Given the description of an element on the screen output the (x, y) to click on. 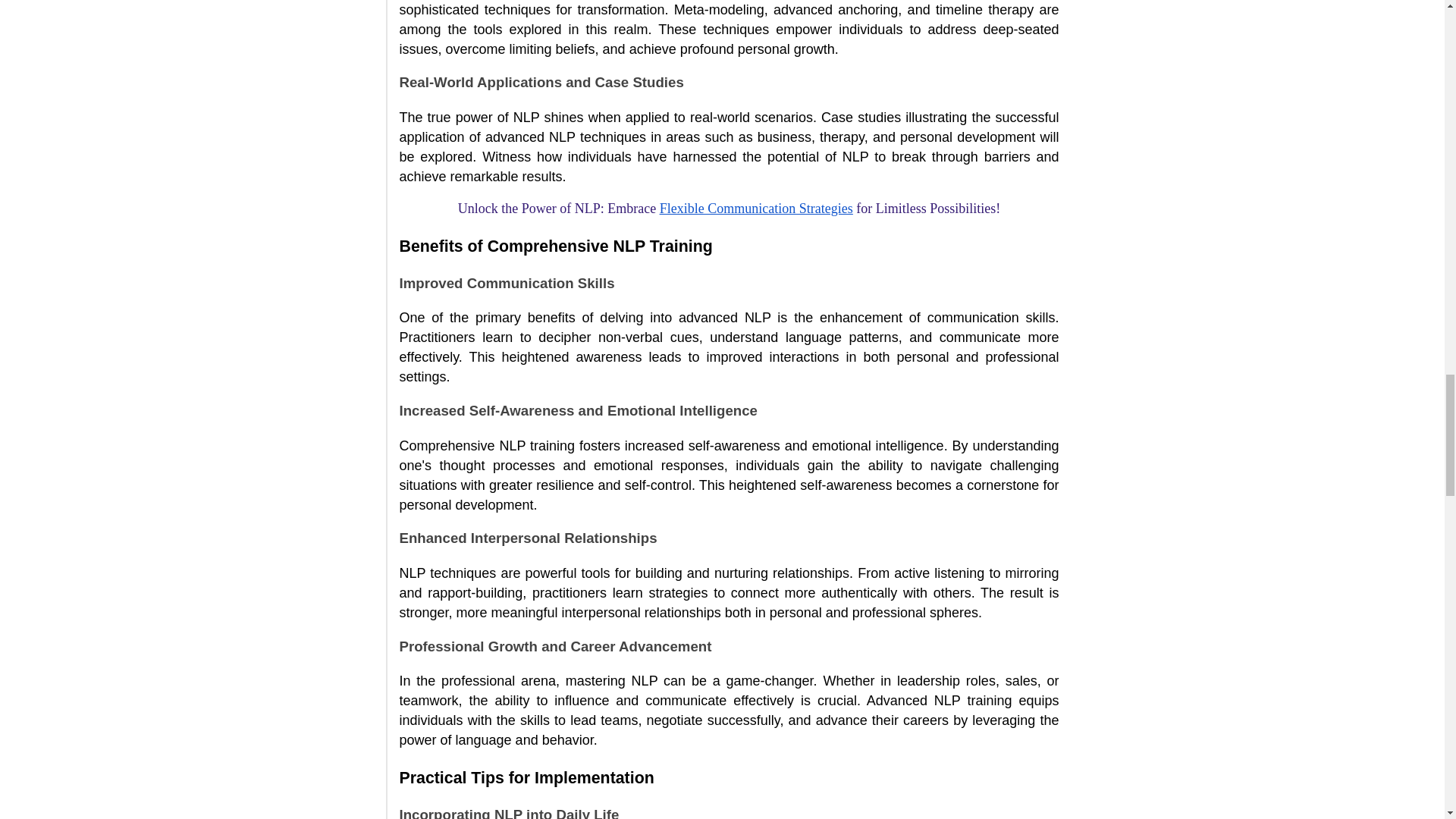
Flexible Communication Strategies (756, 209)
